Given the description of an element on the screen output the (x, y) to click on. 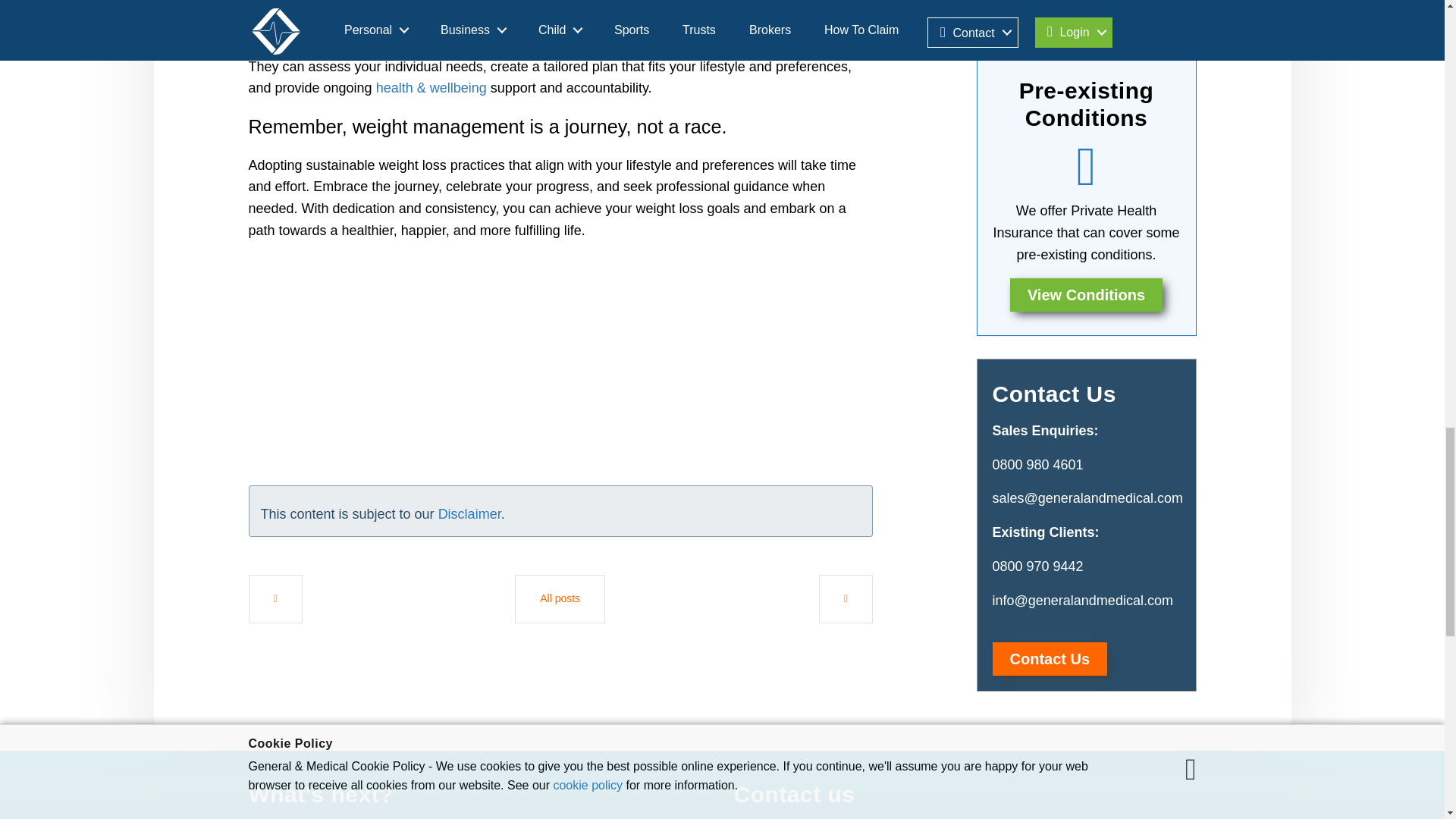
Older (275, 598)
Disclaimer (469, 513)
All posts (560, 598)
Newer (845, 598)
